Given the description of an element on the screen output the (x, y) to click on. 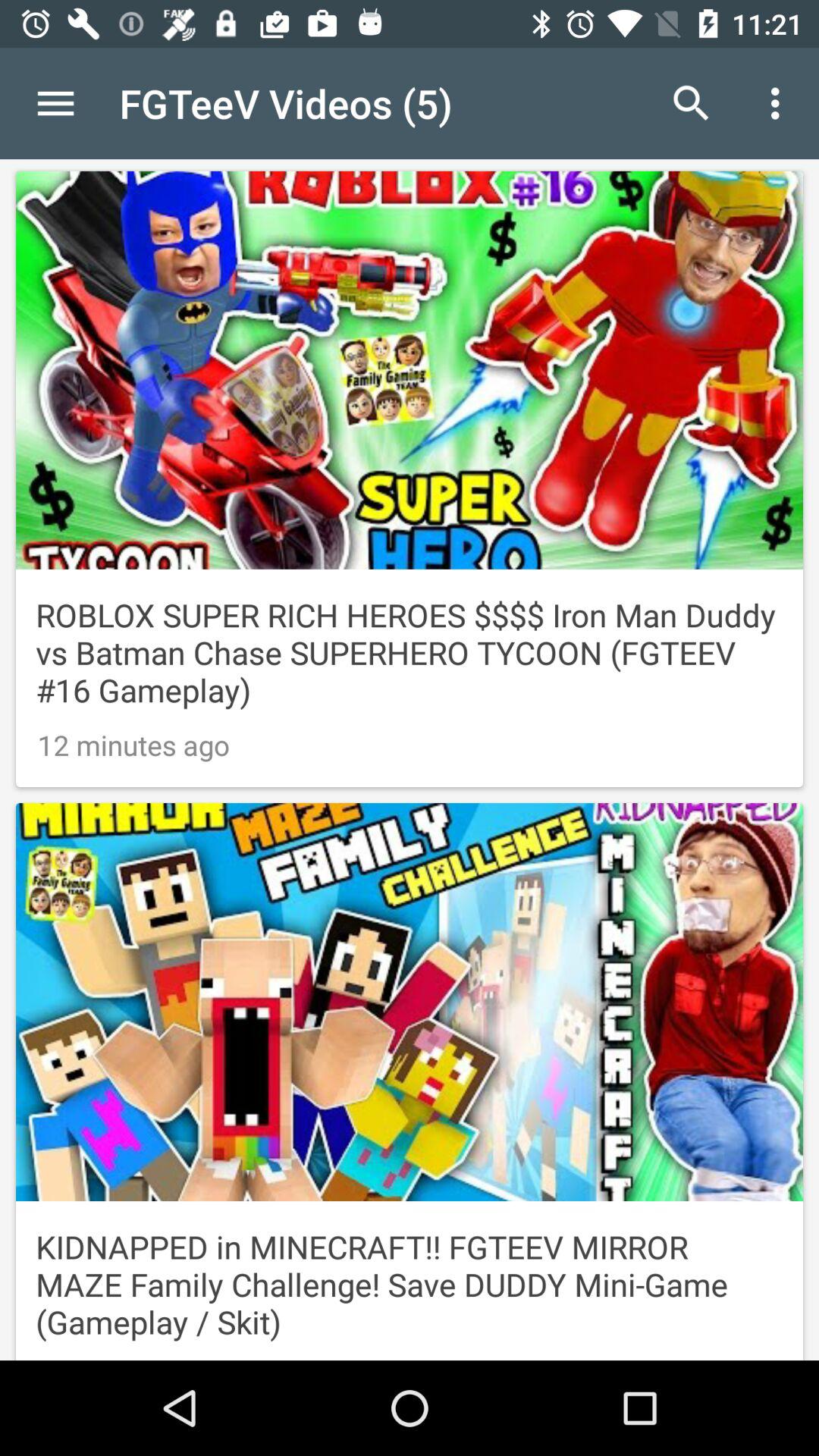
turn on the item to the left of fgteev videos (5) app (55, 103)
